Given the description of an element on the screen output the (x, y) to click on. 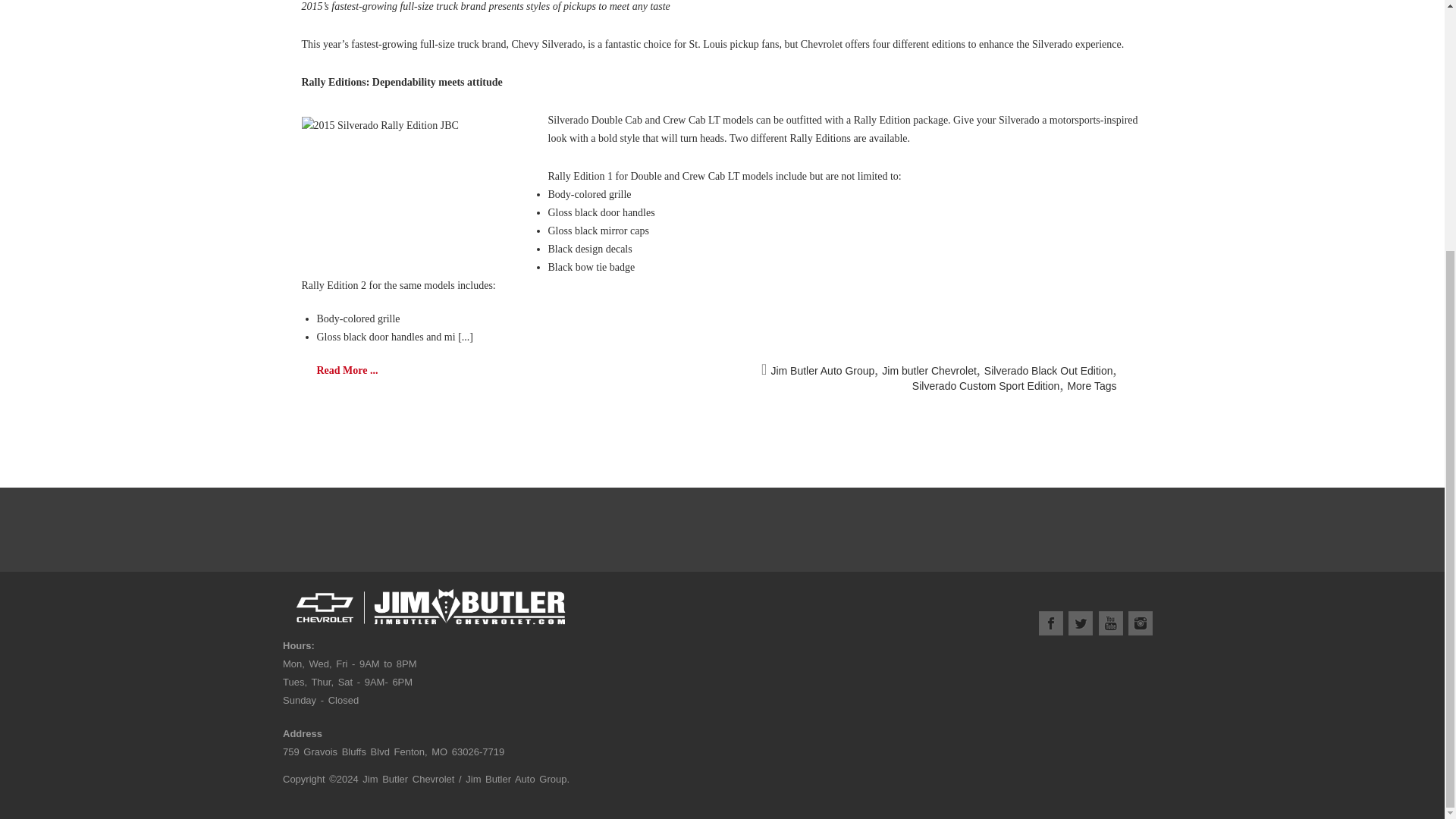
More Tags (1091, 386)
Silverado Black Out Edition (1048, 370)
Silverado Custom Sport Edition Tag (985, 386)
Read More ... (347, 369)
Silverado Custom Sport Edition (985, 386)
Jim butler Chevrolet (929, 370)
Jim Butler Auto Group Tag (822, 370)
Jim Butler Auto Group (822, 370)
Silverado Black Out Edition Tag (1048, 370)
Jim butler Chevrolet Tag (929, 370)
